Given the description of an element on the screen output the (x, y) to click on. 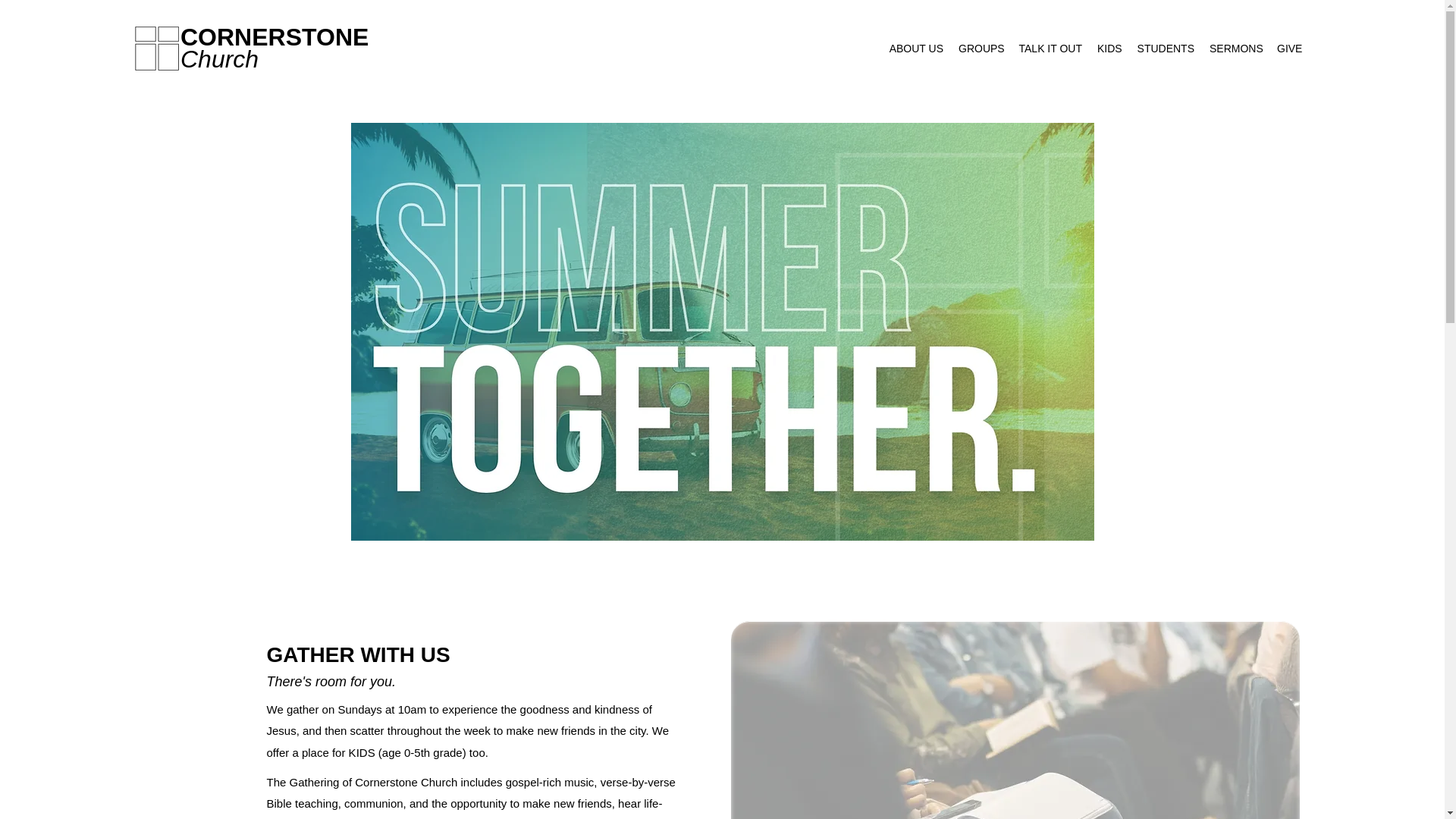
TALK IT OUT (1049, 47)
CORNERSTONE (274, 36)
ABOUT US (915, 47)
Geometric Abstract Shapes (1015, 719)
Church (219, 58)
GROUPS (980, 47)
SERMONS (1235, 47)
KIDS (1109, 47)
GIVE (1288, 47)
STUDENTS (1165, 47)
